Given the description of an element on the screen output the (x, y) to click on. 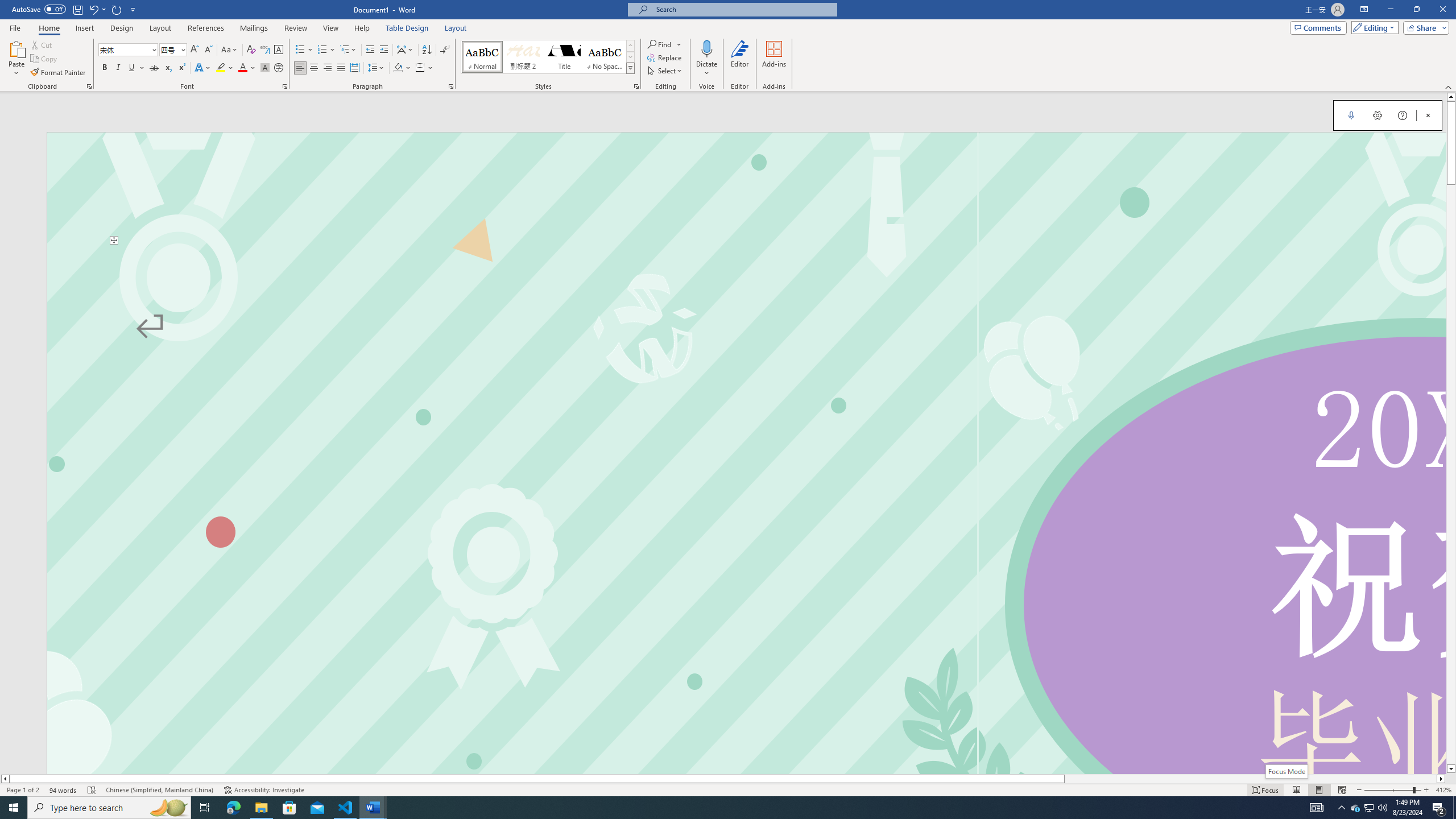
AutomationID: QuickStylesGallery (548, 56)
Font Color Red (241, 67)
Page down (1450, 474)
